Given the description of an element on the screen output the (x, y) to click on. 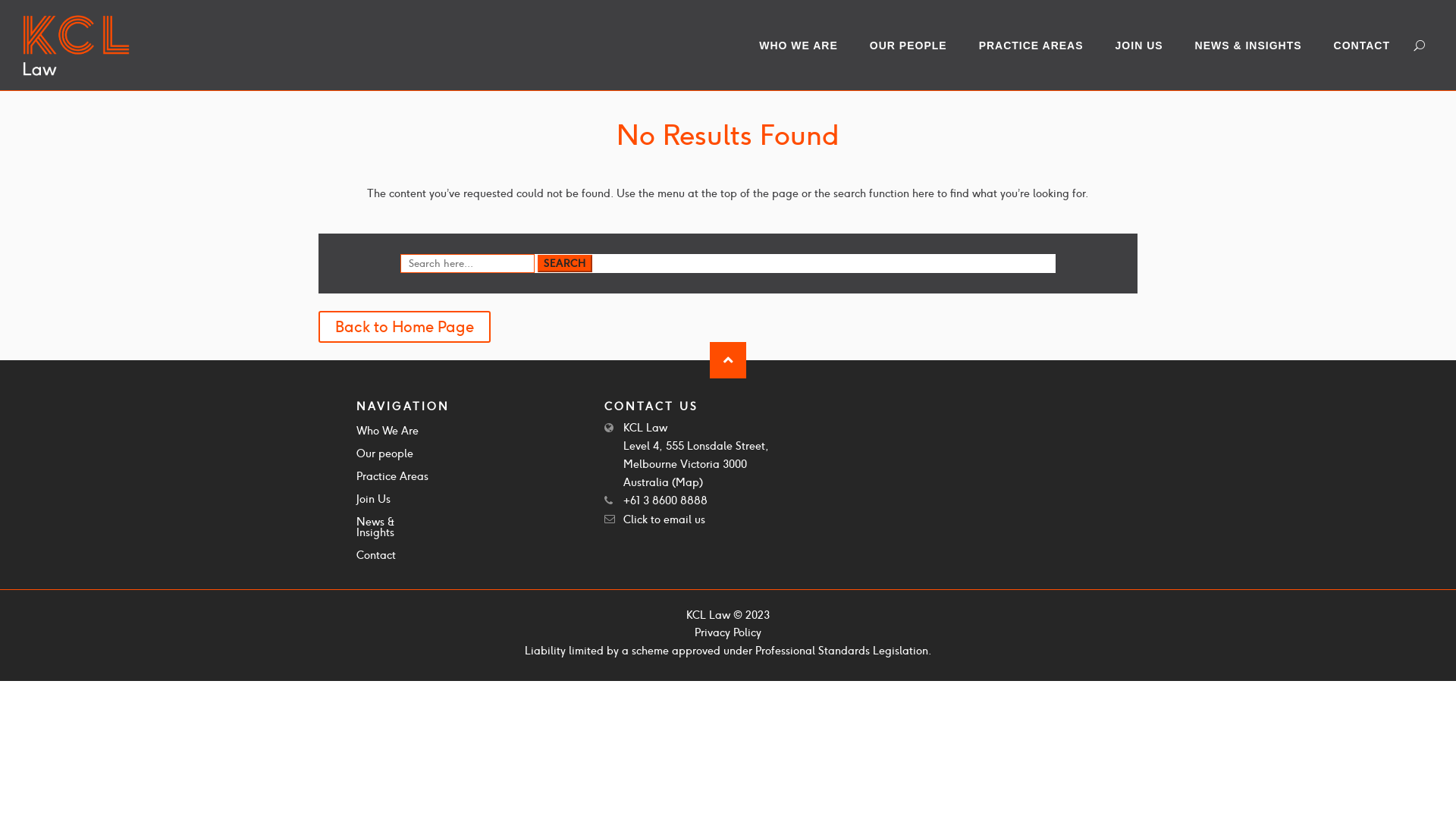
PRACTICE AREAS Element type: text (1038, 45)
+61 3 8600 8888 Element type: text (665, 500)
Who We Are Element type: text (387, 433)
Back to Home Page Element type: text (404, 326)
CONTACT Element type: text (1369, 45)
Search Element type: text (564, 263)
Join Us Element type: text (373, 501)
Contact Element type: text (375, 557)
Map Element type: text (687, 482)
NEWS & INSIGHTS Element type: text (1256, 45)
OUR PEOPLE Element type: text (915, 45)
Click to email us Element type: text (664, 519)
Our people Element type: text (384, 456)
Privacy Policy Element type: text (727, 632)
News & Insights Element type: text (394, 529)
JOIN US Element type: text (1146, 45)
Practice Areas Element type: text (392, 478)
WHO WE ARE Element type: text (806, 45)
